Given the description of an element on the screen output the (x, y) to click on. 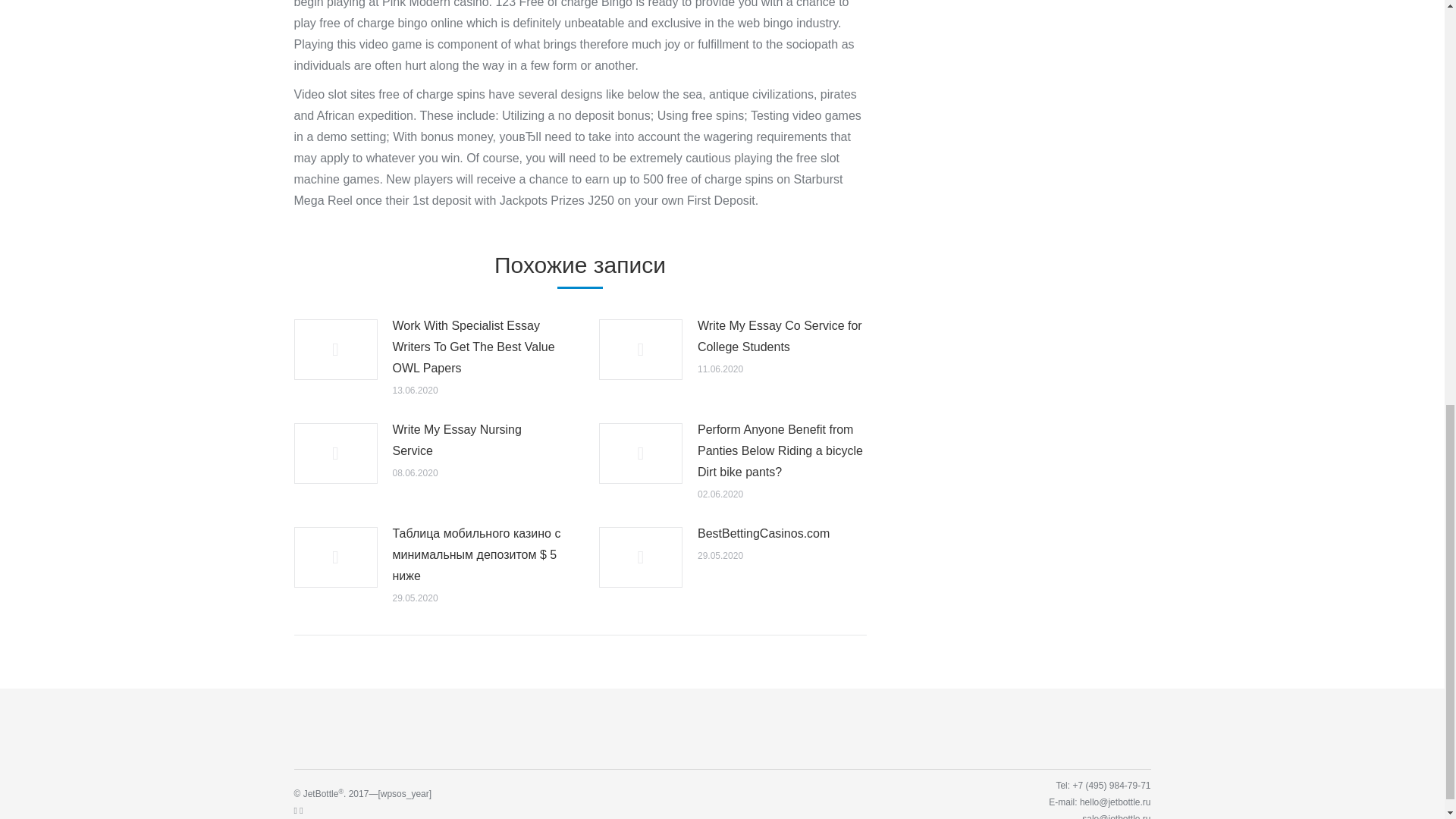
Write My Essay Co Service for College Students (781, 336)
Write My Essay Nursing Service (477, 440)
BestBettingCasinos.com (763, 533)
